Given the description of an element on the screen output the (x, y) to click on. 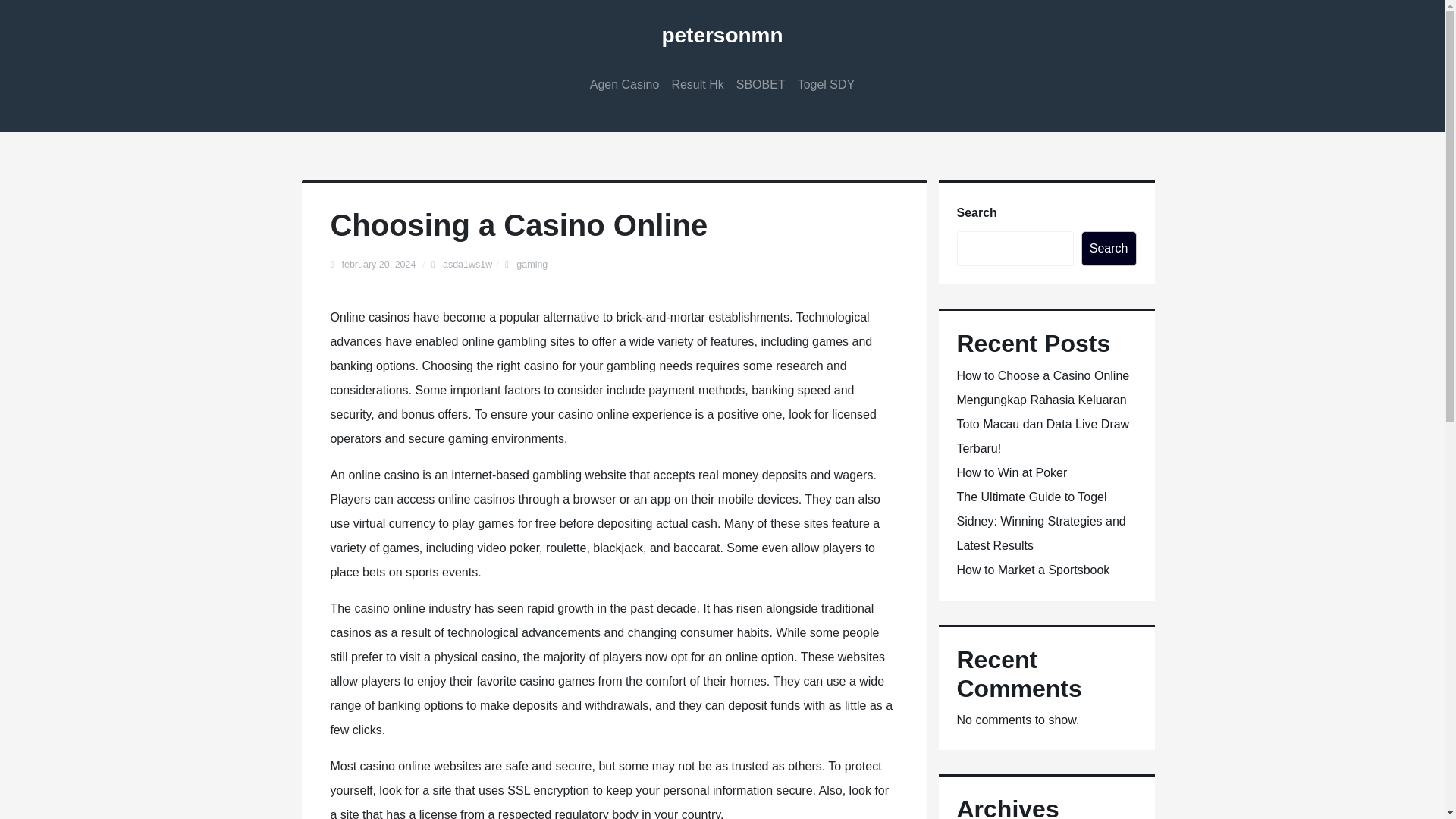
Togel SDY (826, 84)
Agen Casino (624, 84)
How to Market a Sportsbook (1032, 569)
petersonmn (722, 34)
asda1ws1w (467, 264)
Togel SDY (826, 84)
Agen Casino (624, 84)
february 20, 2024 (378, 264)
Result Hk (697, 84)
SBOBET (761, 84)
How to Choose a Casino Online (1042, 375)
Search (1109, 248)
gaming (531, 264)
How to Win at Poker (1011, 472)
